Given the description of an element on the screen output the (x, y) to click on. 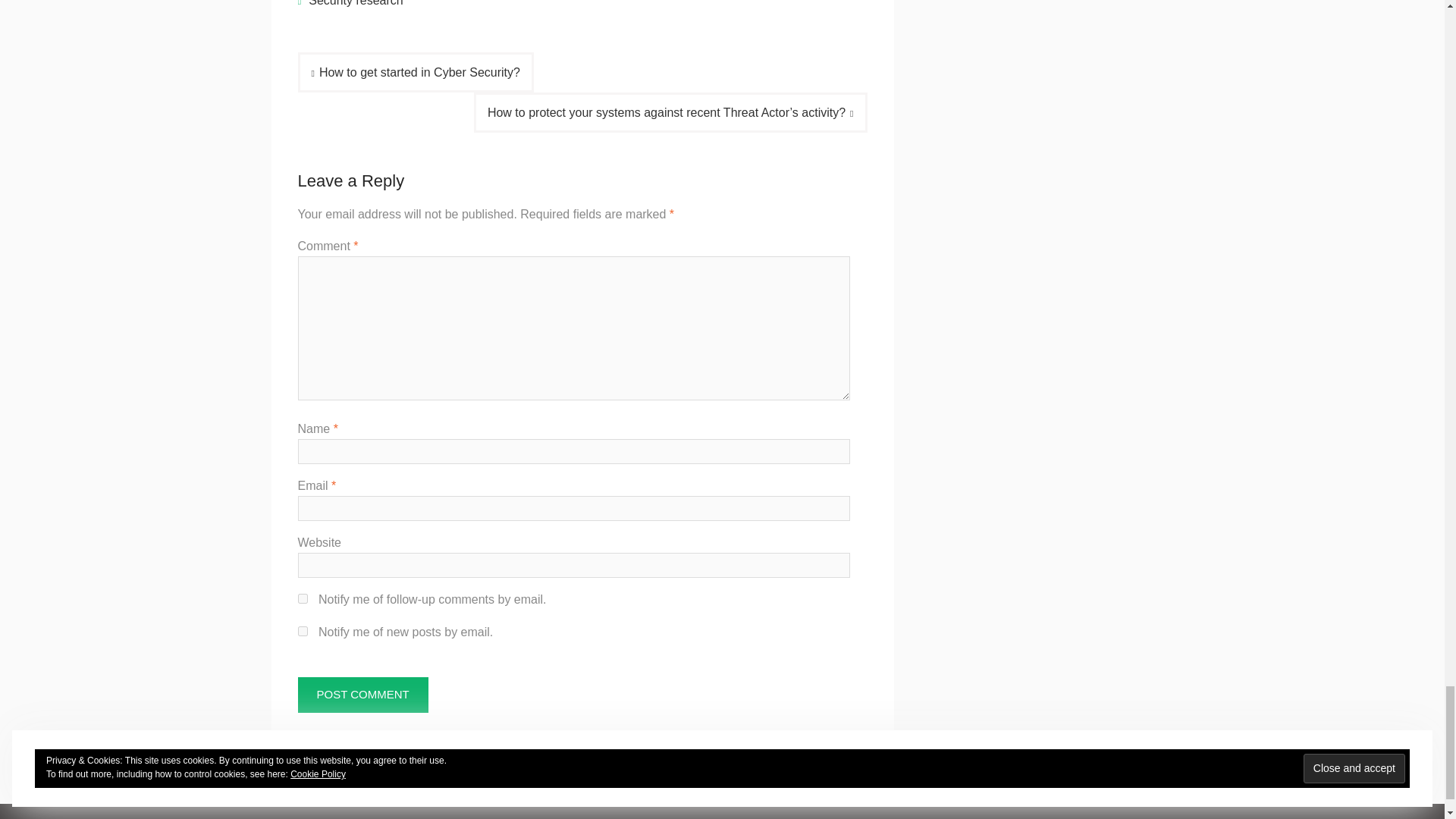
subscribe (302, 631)
subscribe (302, 598)
Post Comment (362, 694)
